Given the description of an element on the screen output the (x, y) to click on. 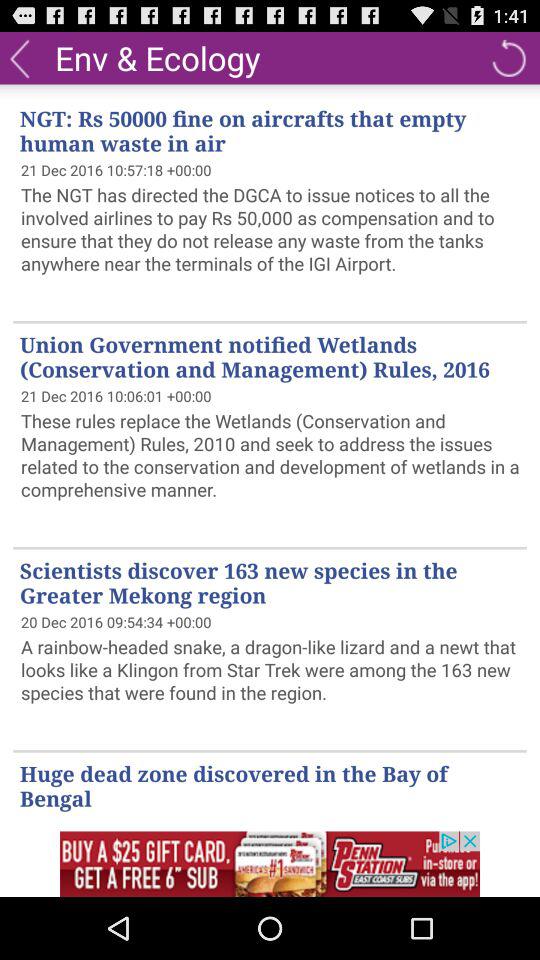
go back (19, 57)
